Given the description of an element on the screen output the (x, y) to click on. 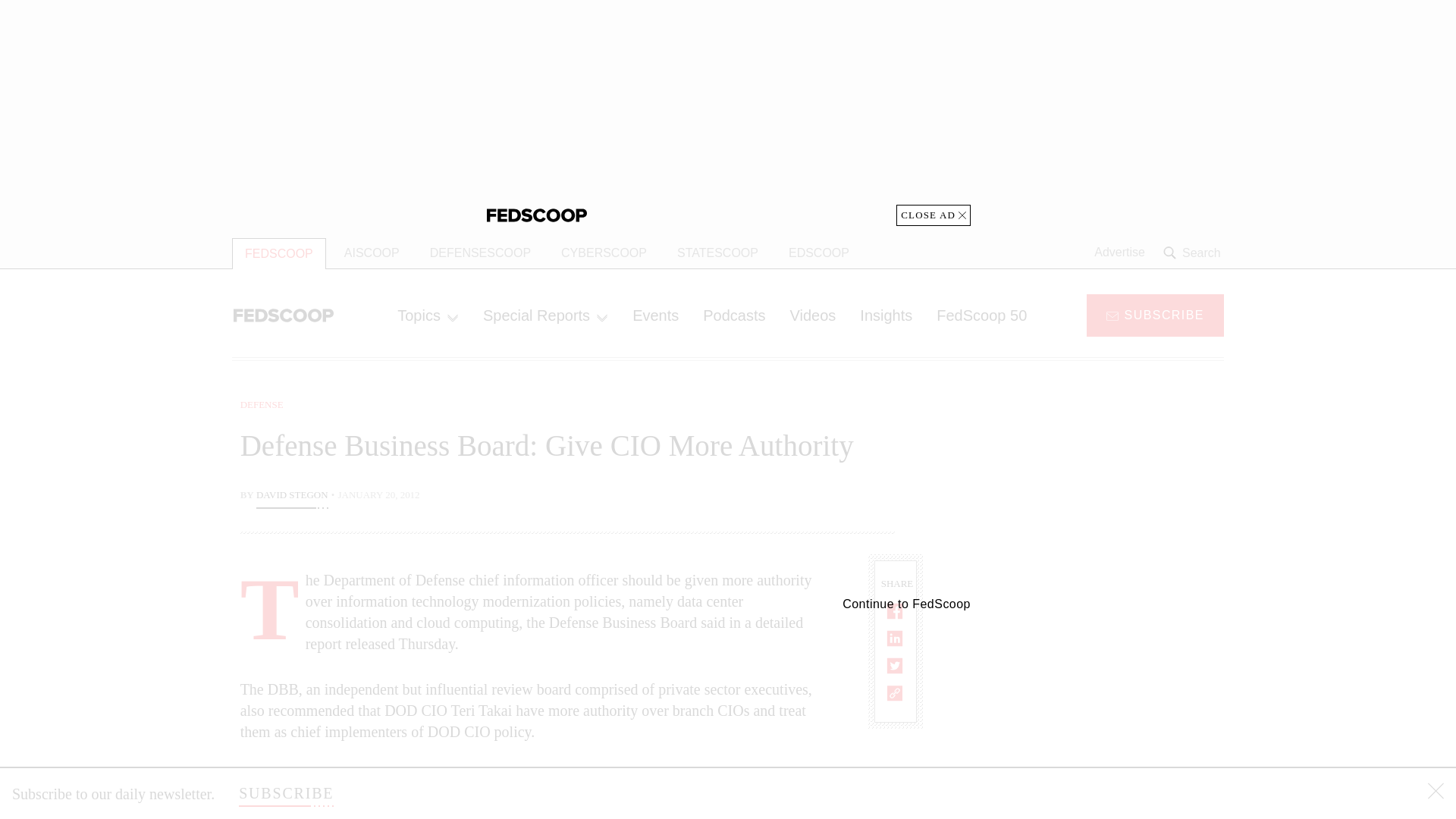
Events (655, 315)
FedScoop 50 (981, 315)
Special Reports (545, 315)
3rd party ad content (1101, 705)
AISCOOP (371, 253)
FEDSCOOP (278, 253)
EDSCOOP (818, 253)
Insights (885, 315)
DEFENSESCOOP (480, 253)
CYBERSCOOP (603, 253)
STATESCOOP (717, 253)
Videos (812, 315)
